Given the description of an element on the screen output the (x, y) to click on. 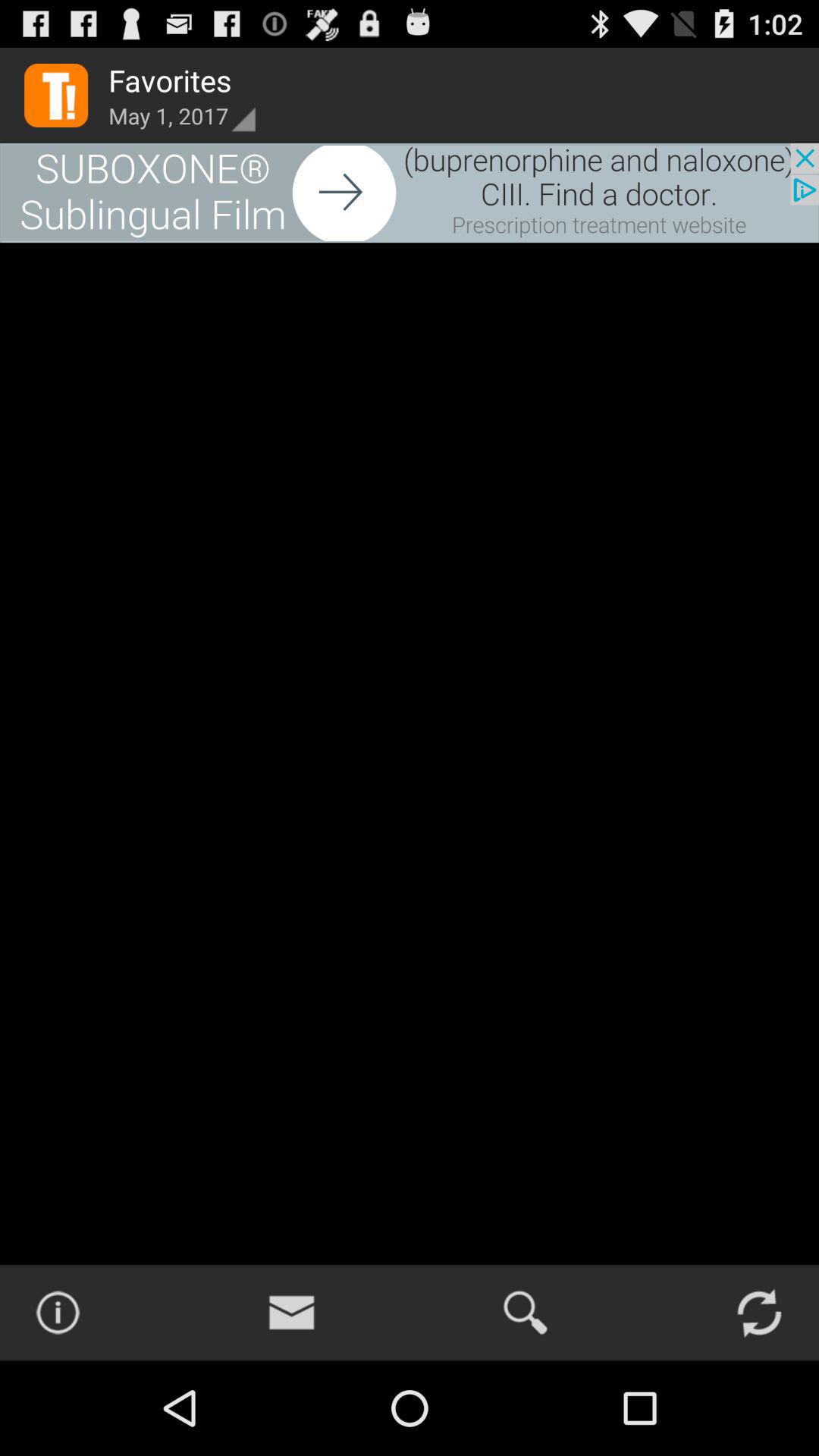
advertisement area (409, 192)
